Given the description of an element on the screen output the (x, y) to click on. 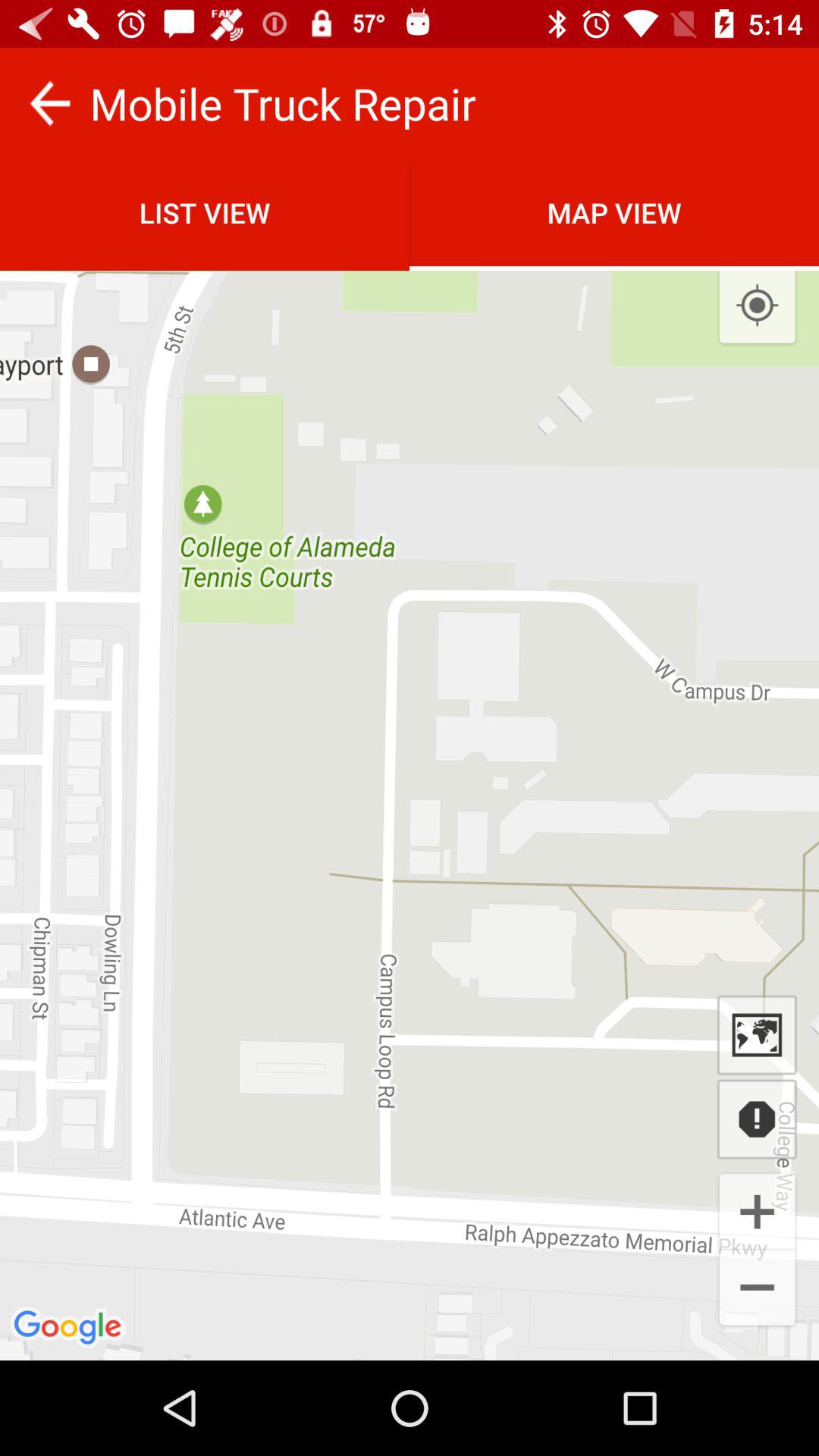
choose the map view icon (614, 212)
